Given the description of an element on the screen output the (x, y) to click on. 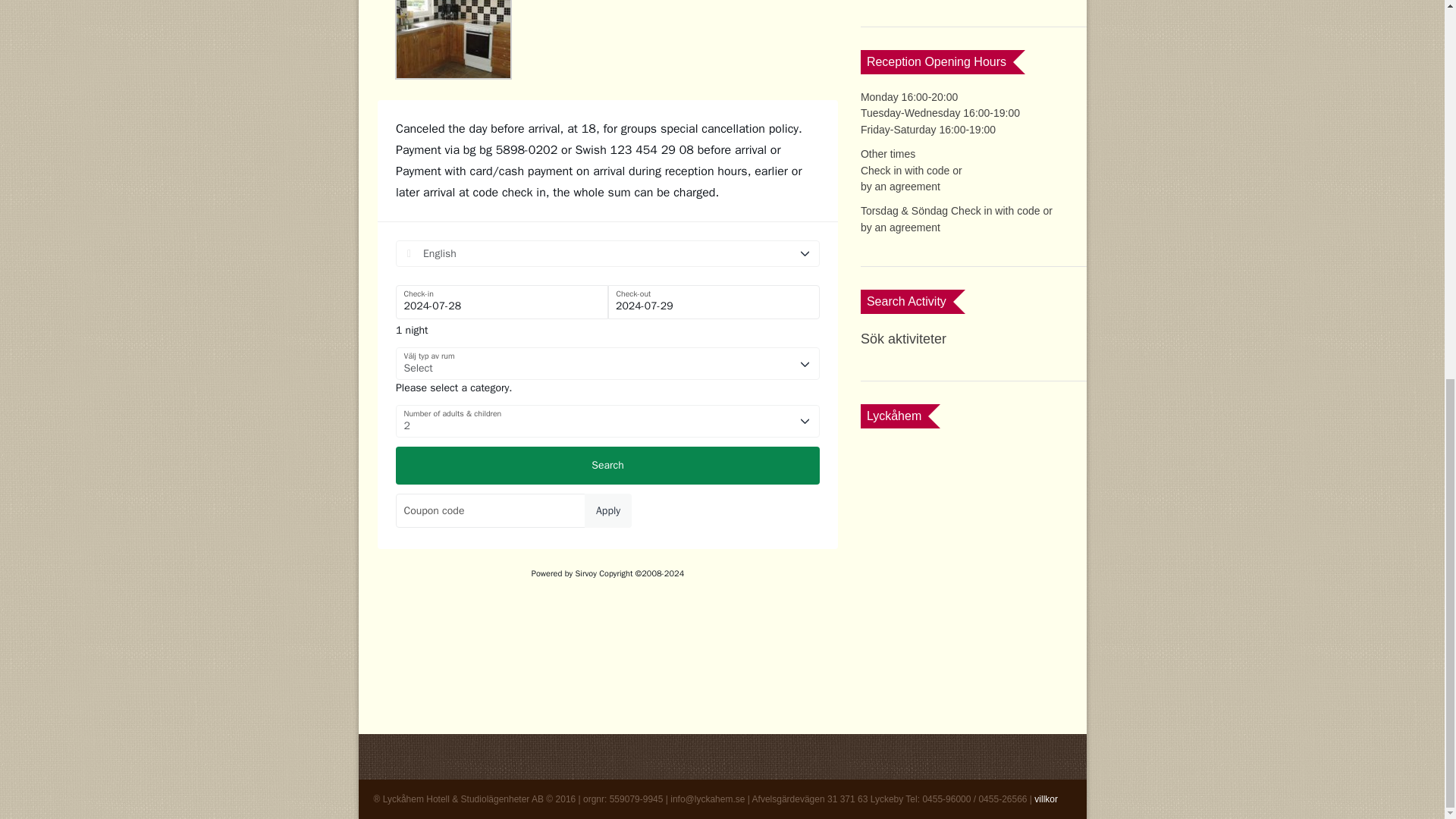
villkor (1045, 798)
